Given the description of an element on the screen output the (x, y) to click on. 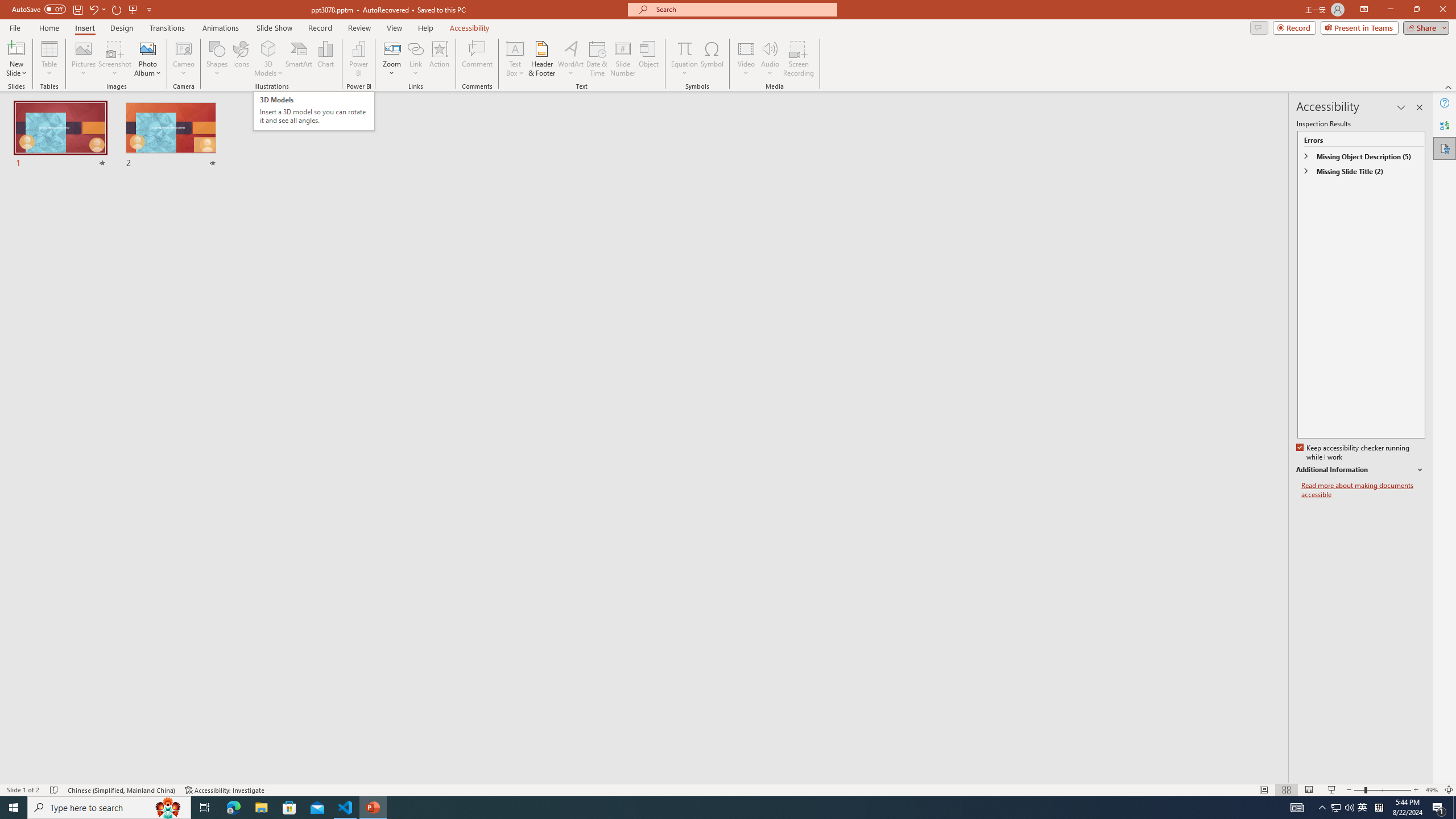
New Photo Album... (147, 48)
Screenshot (114, 58)
Symbol... (711, 58)
SmartArt... (298, 58)
Equation (683, 48)
